Given the description of an element on the screen output the (x, y) to click on. 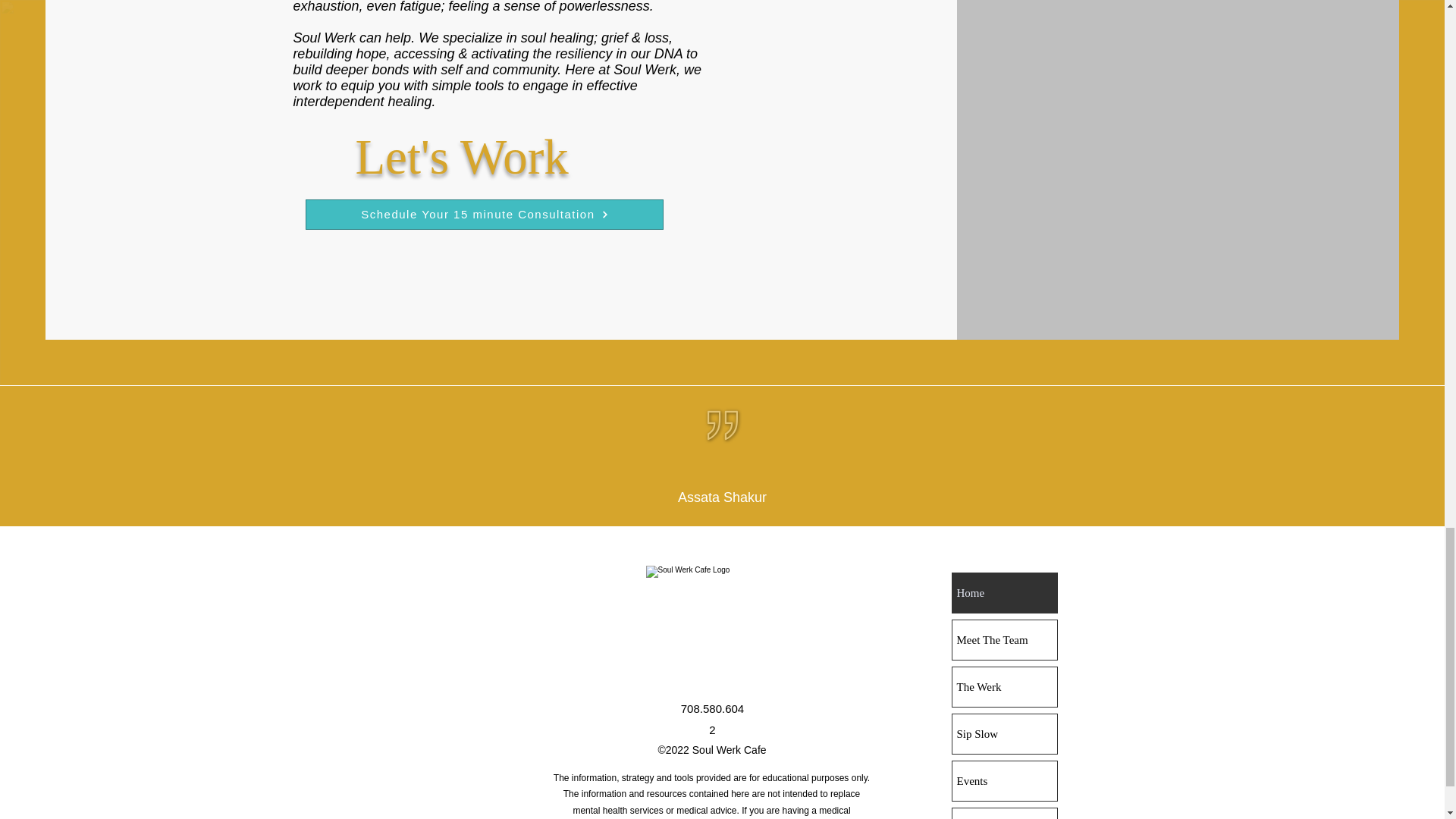
Meet The Team (1004, 639)
Sip Slow (1004, 733)
Schedule Your 15 minute Consultation (484, 214)
The Werk (1004, 686)
Home (1004, 592)
Events (1004, 780)
